Given the description of an element on the screen output the (x, y) to click on. 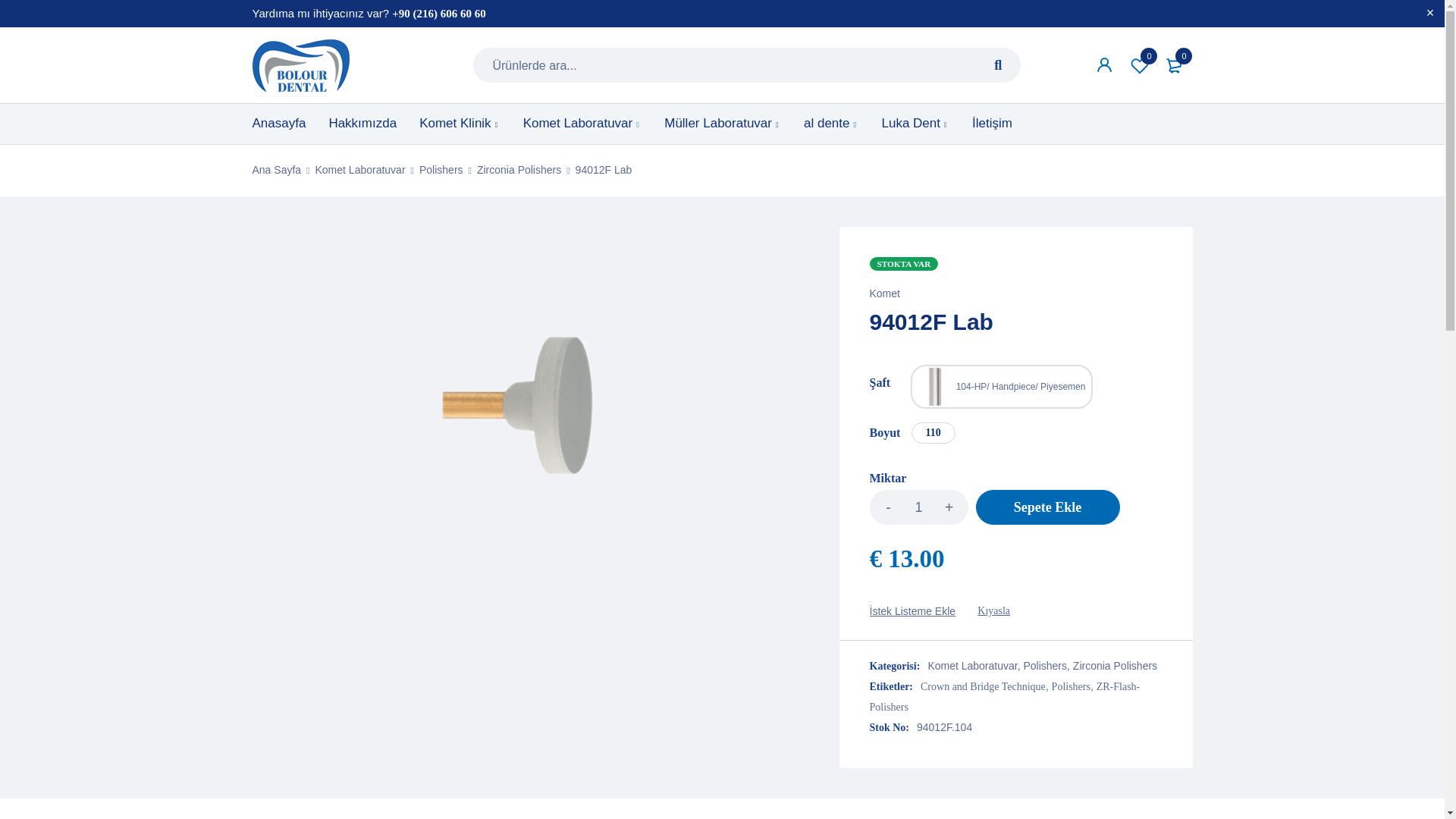
- (888, 506)
Sepetinizi inceleyin (1174, 64)
Arama (997, 64)
Bolour Dental (300, 65)
1 (918, 506)
